Given the description of an element on the screen output the (x, y) to click on. 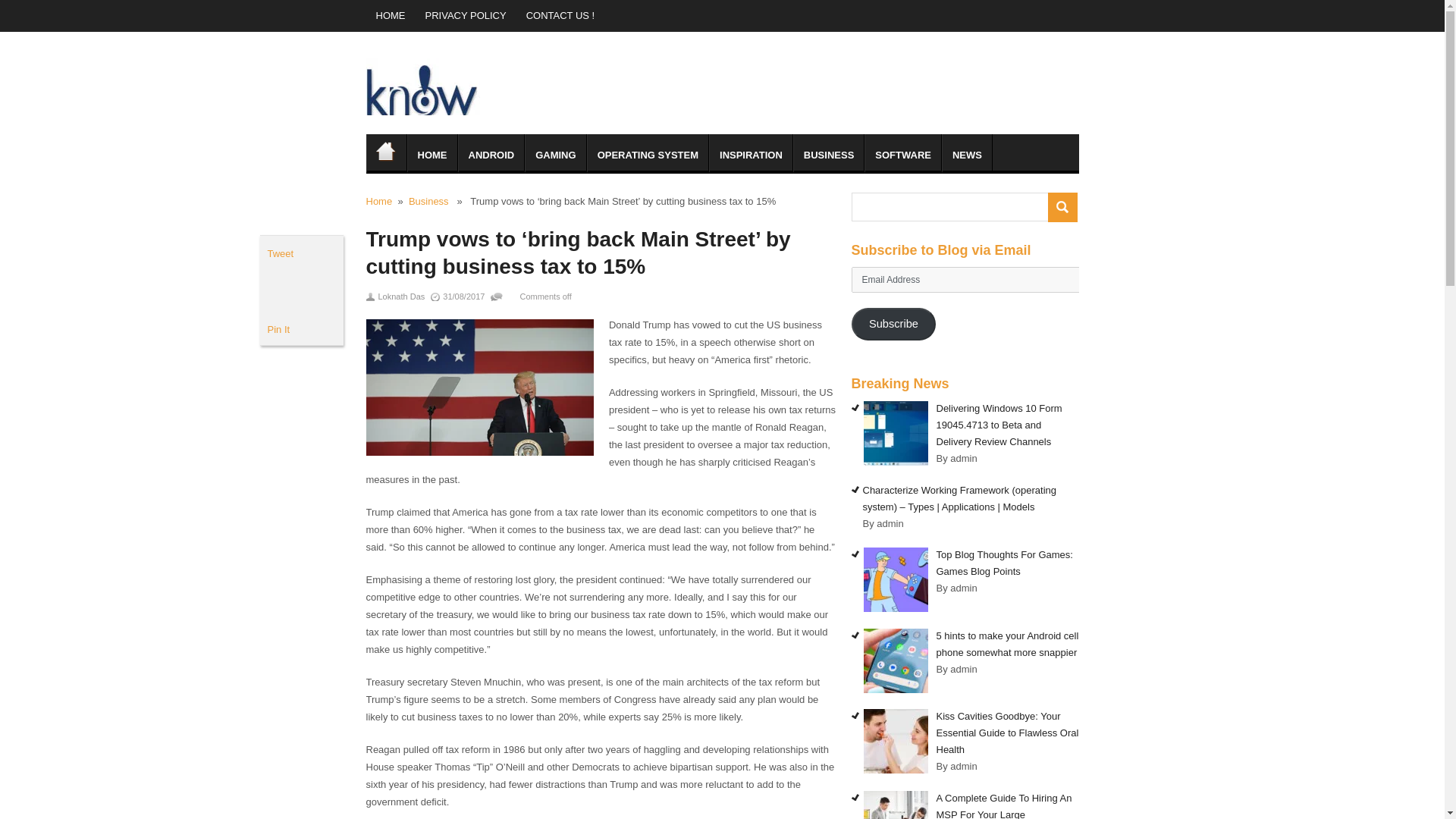
HOME (389, 15)
CONTACT US ! (560, 15)
ANDROID (491, 153)
PRIVACY POLICY (465, 15)
NEWS (967, 153)
HOME (385, 153)
BUSINESS (828, 153)
Posts by Loknath Das (401, 296)
SOFTWARE (903, 153)
